Given the description of an element on the screen output the (x, y) to click on. 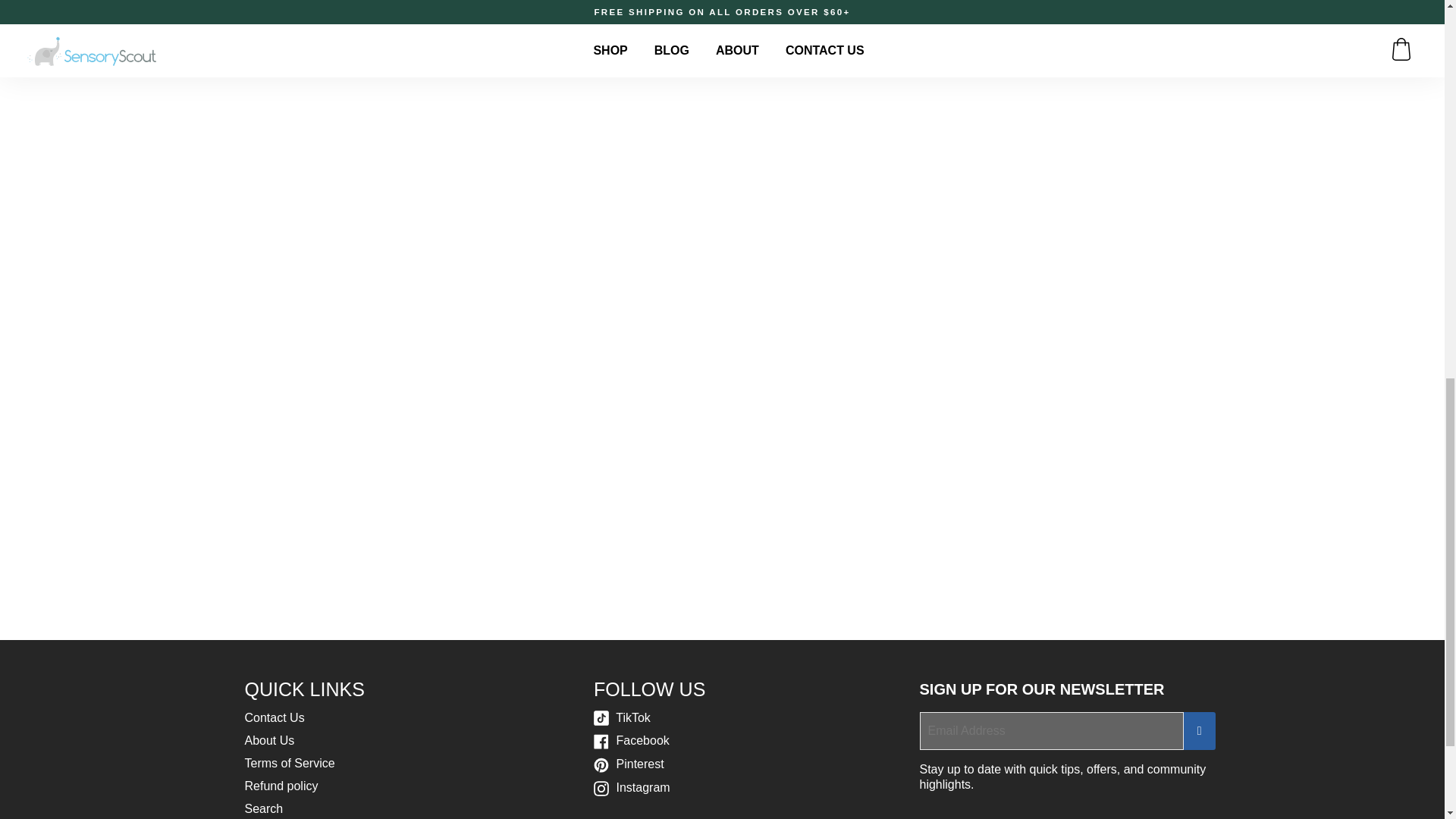
Contact Us (274, 717)
Sensory Scout on TikTok (622, 717)
Refund policy (280, 785)
Sensory Scout on Pinterest (628, 763)
Terms of Service (289, 762)
About Us (269, 739)
Sensory Scout on Instagram (631, 787)
Sensory Scout on Facebook (631, 739)
